Given the description of an element on the screen output the (x, y) to click on. 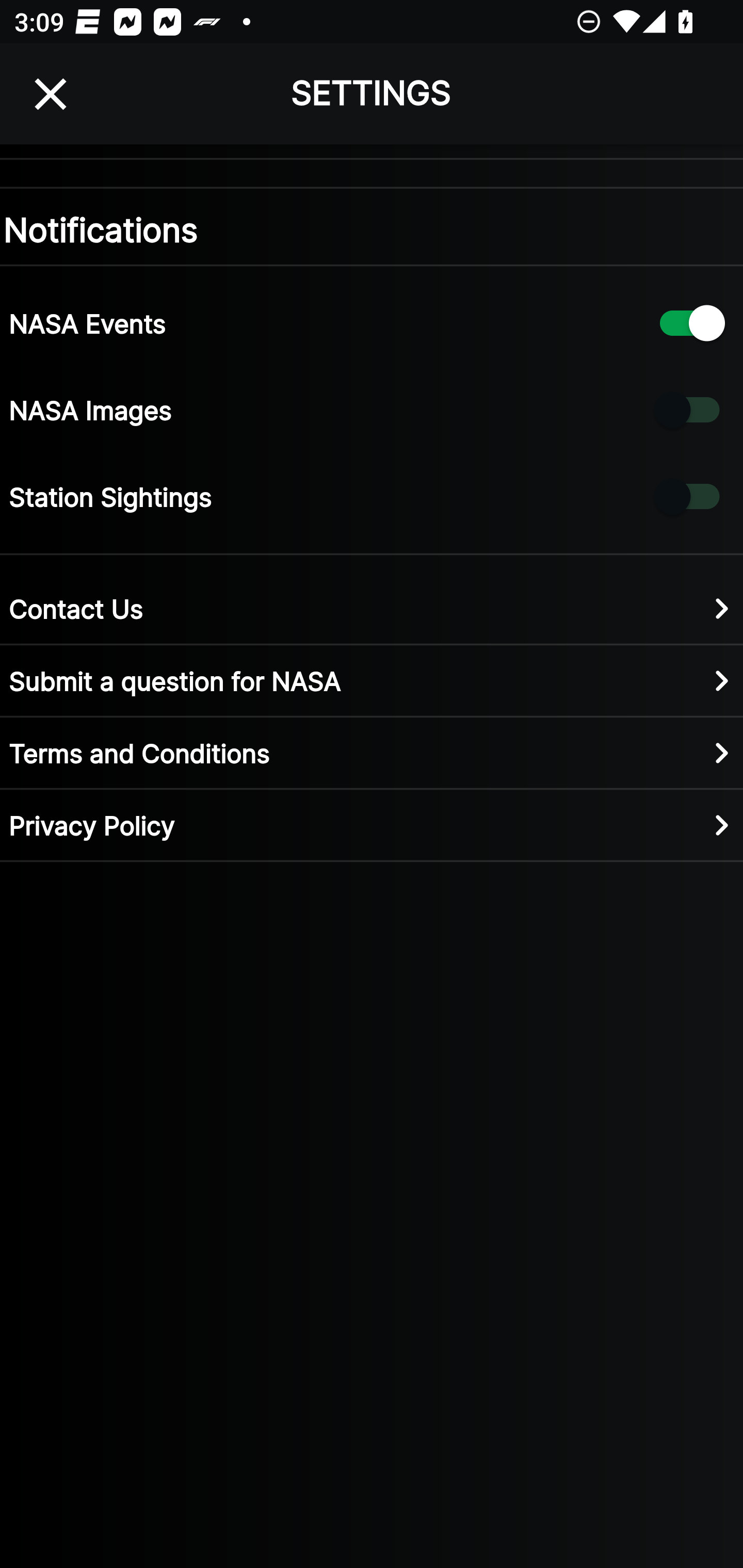
Contact Us (371, 608)
Submit a question for NASA (371, 680)
Terms and Conditions (371, 752)
Privacy Policy (371, 824)
